Given the description of an element on the screen output the (x, y) to click on. 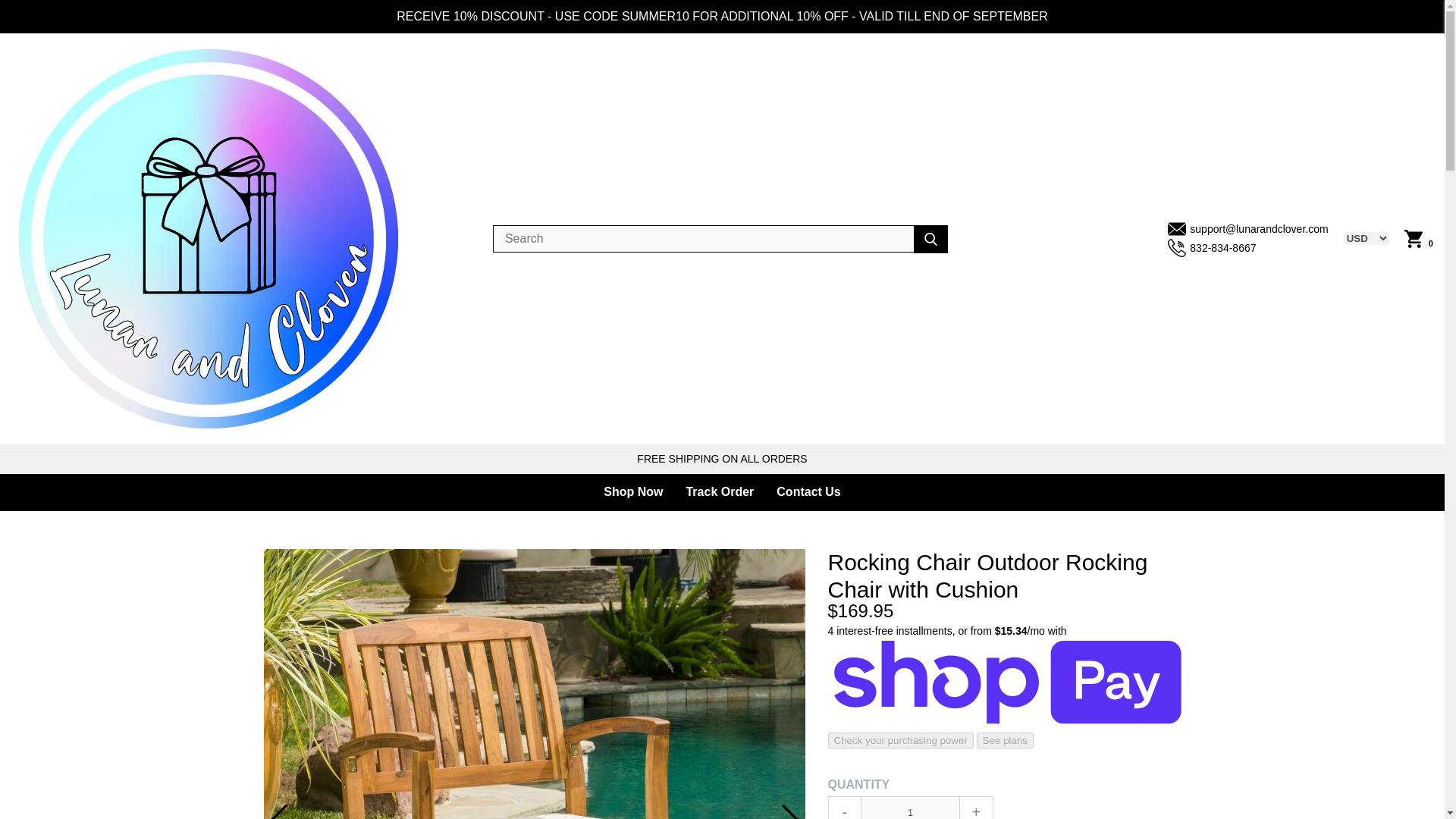
- (844, 807)
0 (1418, 239)
832-834-8667 (1247, 248)
Shop Now (633, 492)
Track Order (719, 492)
Contact Us (808, 492)
1 (909, 807)
